Given the description of an element on the screen output the (x, y) to click on. 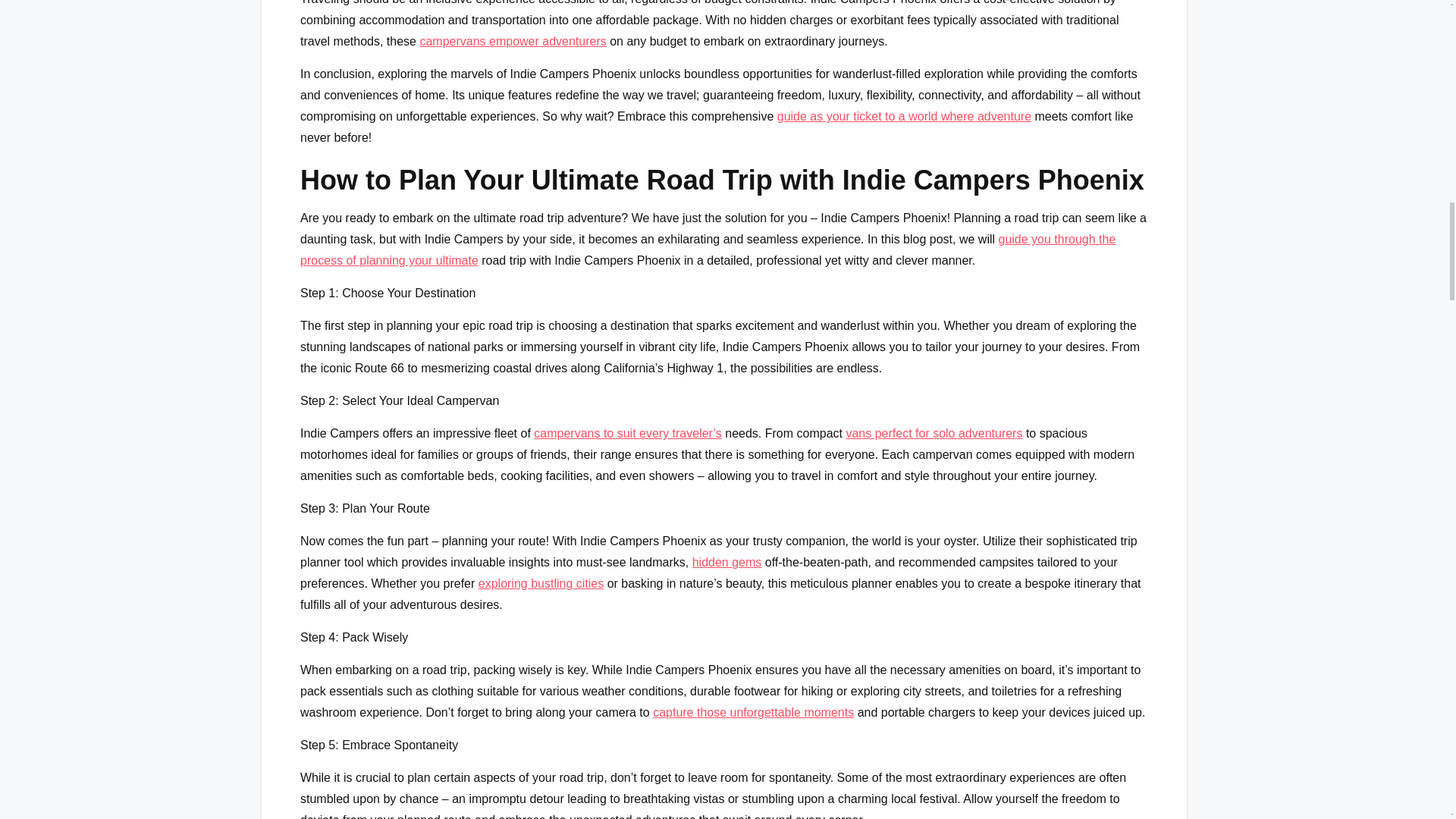
exploring bustling cities (541, 583)
capture those unforgettable moments (752, 712)
hidden gems (727, 562)
guide you through the process of planning your ultimate (707, 249)
guide as your ticket to a world where adventure (903, 115)
campervans empower adventurers (512, 41)
vans perfect for solo adventurers (933, 432)
